Given the description of an element on the screen output the (x, y) to click on. 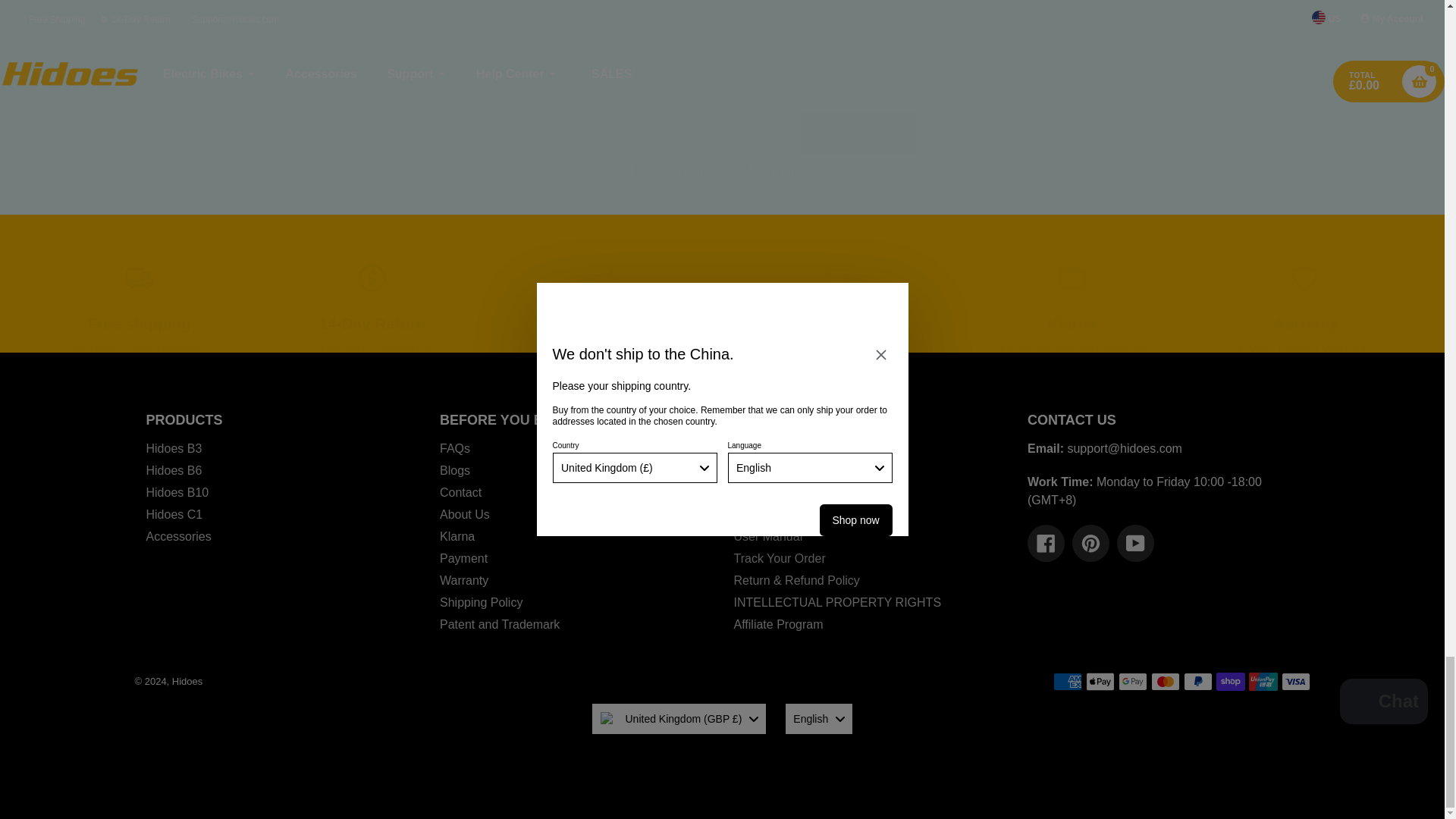
Klarna (1072, 349)
Payment (622, 349)
Refund Policy (372, 349)
Shipping Policy (165, 349)
Warranty (1305, 349)
